Given the description of an element on the screen output the (x, y) to click on. 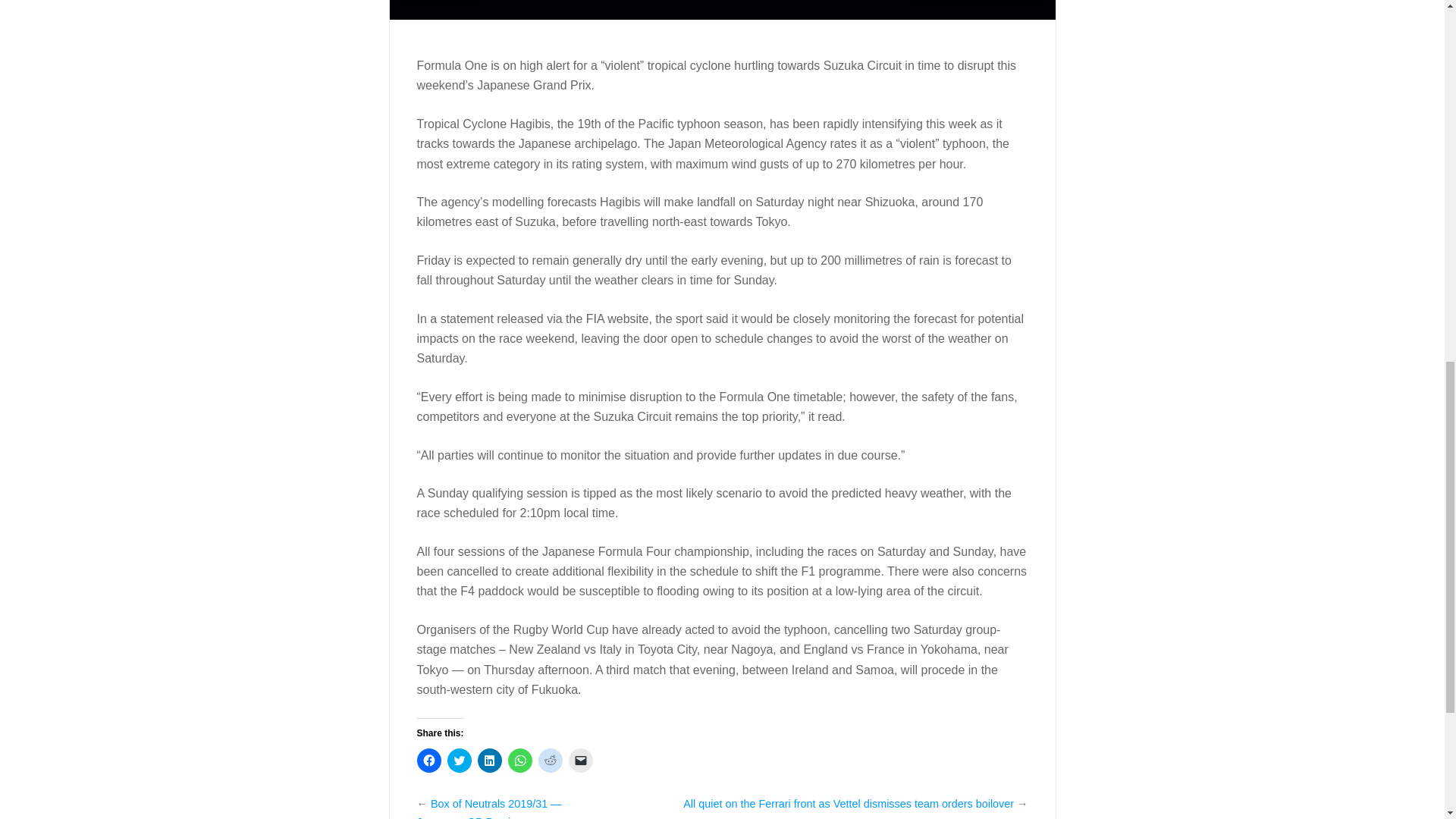
Click to email a link to a friend (580, 760)
Click to share on Reddit (550, 760)
Click to share on WhatsApp (520, 760)
Click to share on Twitter (458, 760)
Click to share on LinkedIn (489, 760)
Click to share on Facebook (428, 760)
